Given the description of an element on the screen output the (x, y) to click on. 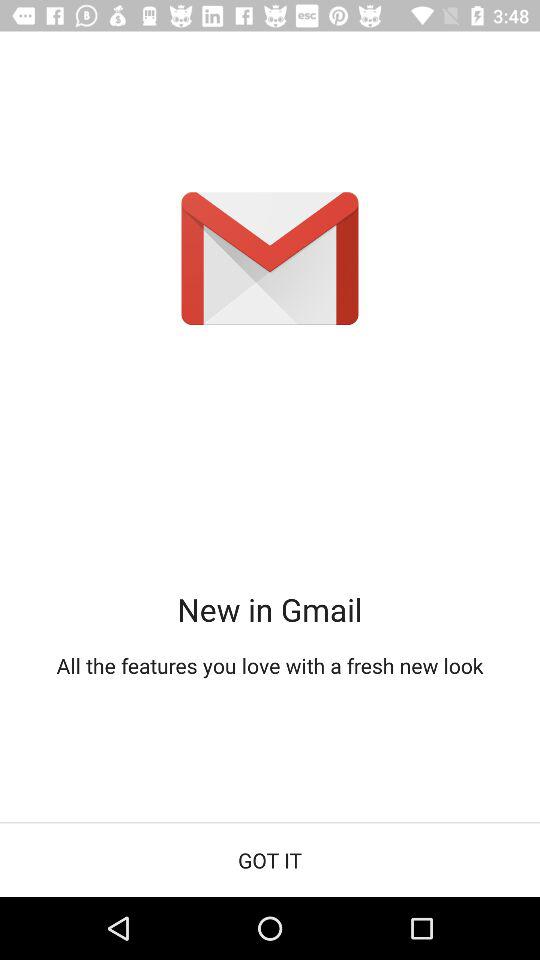
open the got it icon (270, 859)
